Given the description of an element on the screen output the (x, y) to click on. 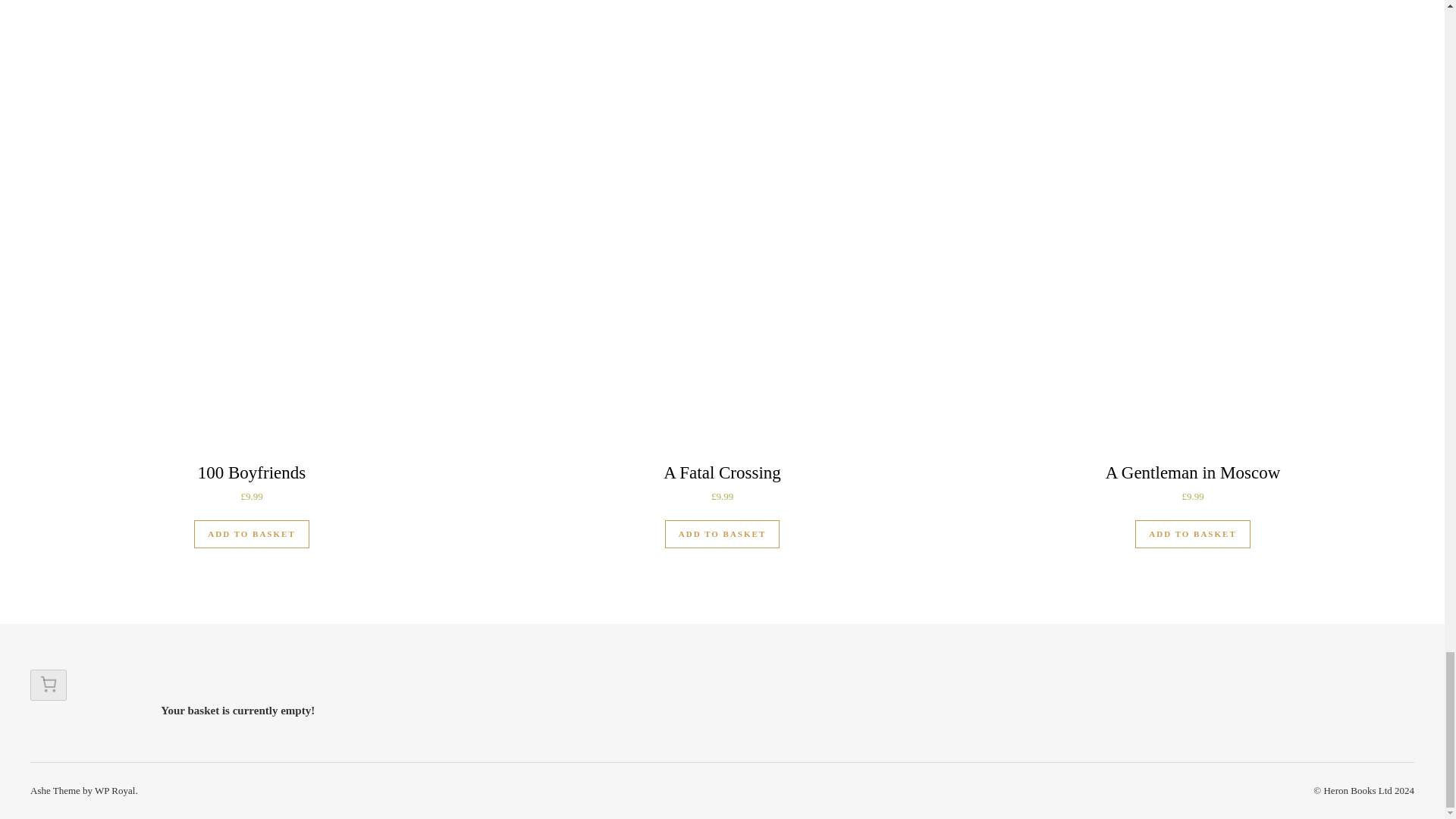
ADD TO BASKET (1192, 533)
WP Royal (114, 790)
ADD TO BASKET (721, 533)
ADD TO BASKET (250, 533)
